Given the description of an element on the screen output the (x, y) to click on. 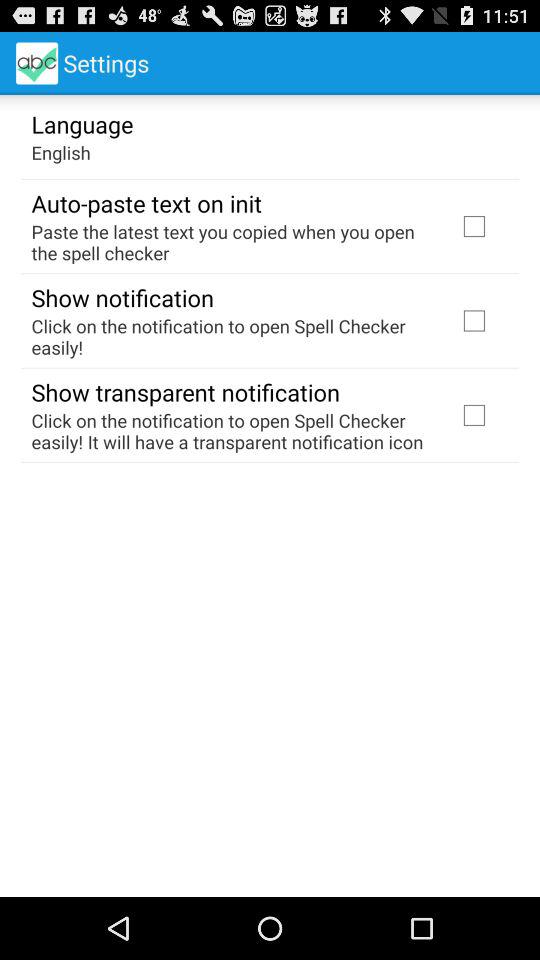
click english (60, 151)
